Given the description of an element on the screen output the (x, y) to click on. 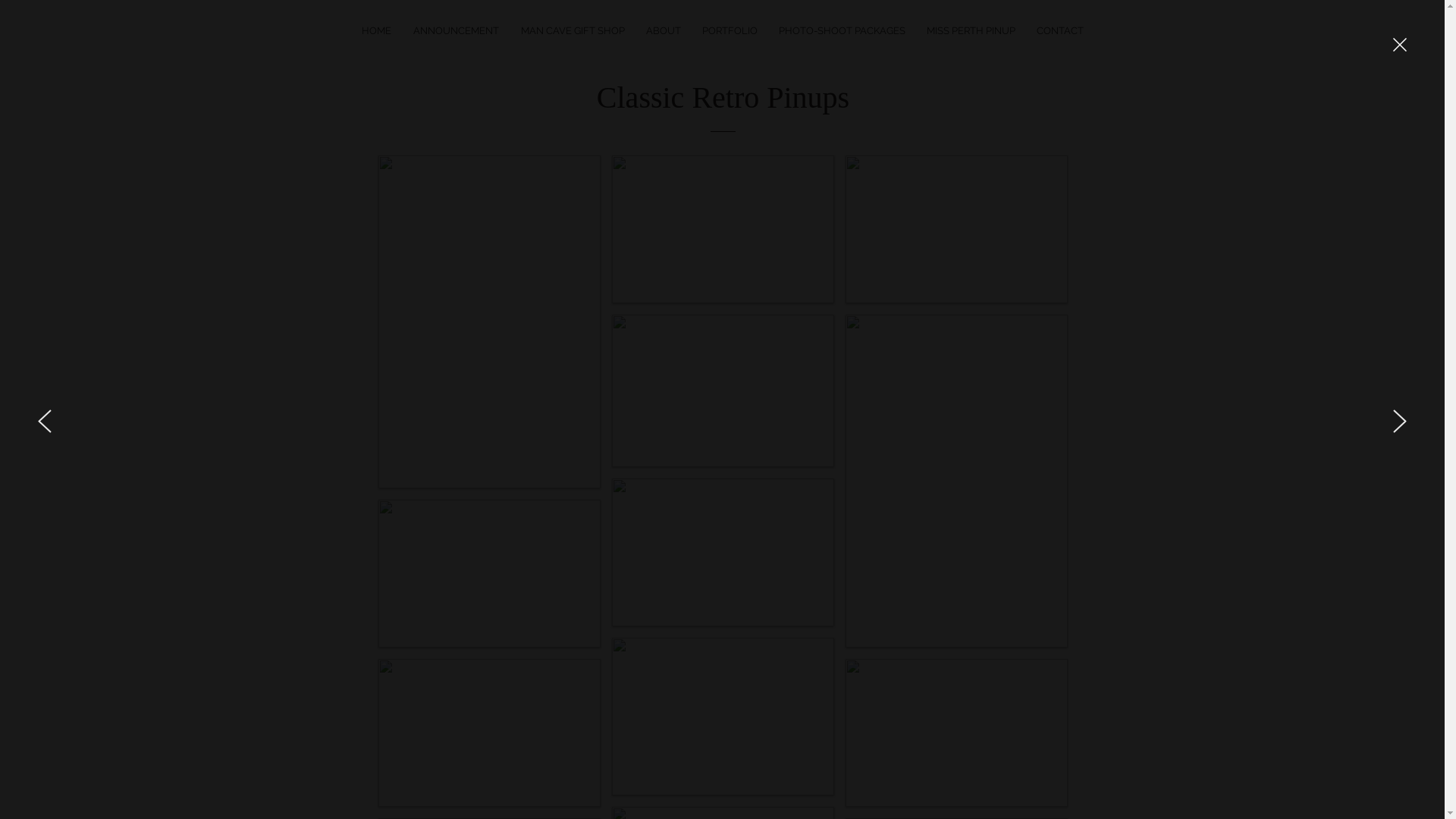
PORTFOLIO Element type: text (728, 30)
HOME Element type: text (376, 30)
PHOTO-SHOOT PACKAGES Element type: text (841, 30)
MAN CAVE GIFT SHOP Element type: text (572, 30)
CONTACT Element type: text (1059, 30)
MISS PERTH PINUP Element type: text (970, 30)
ABOUT Element type: text (662, 30)
ANNOUNCEMENT Element type: text (456, 30)
